Given the description of an element on the screen output the (x, y) to click on. 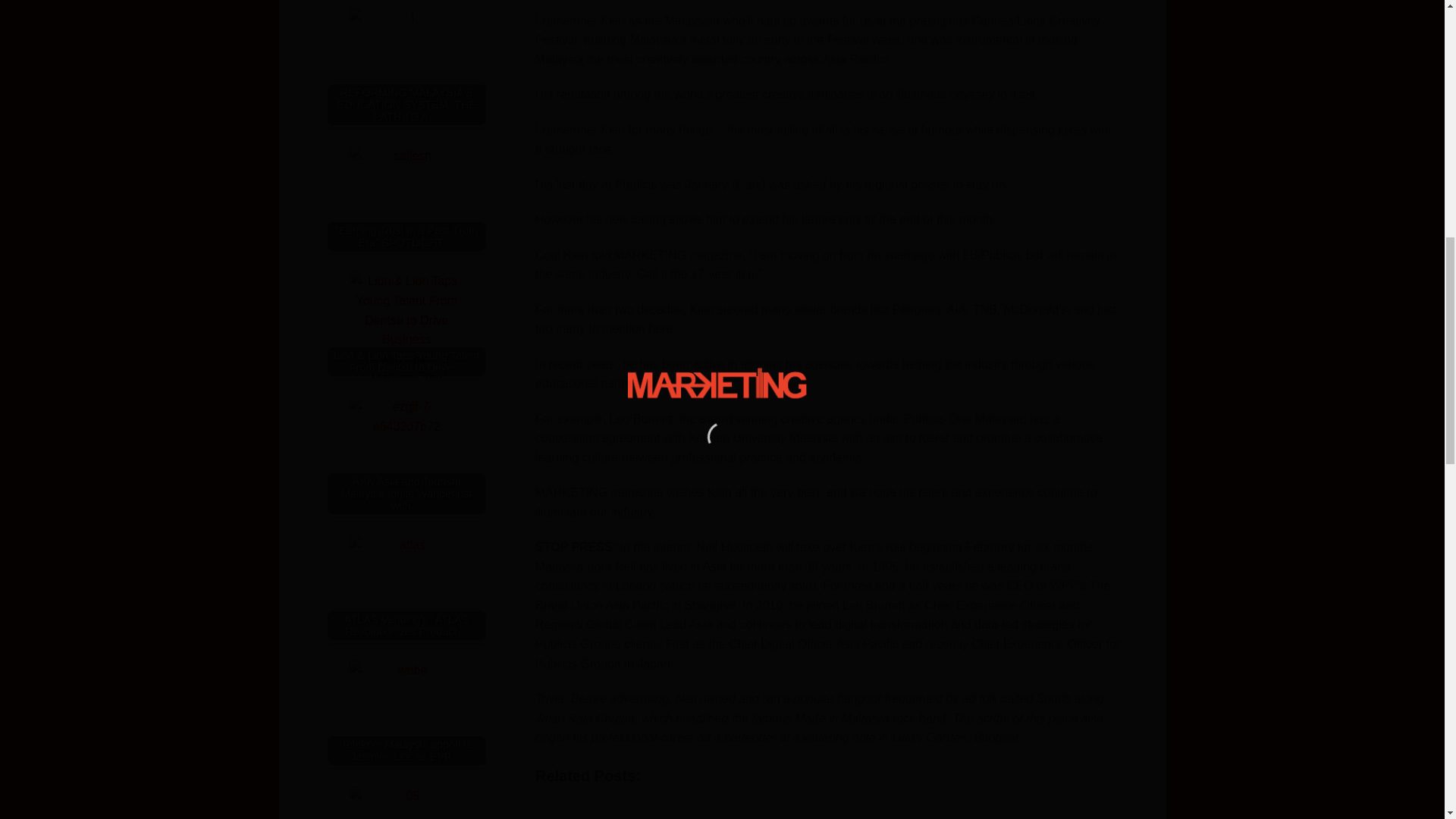
Publicis Groupe Malaysia Bags 100PLUS Creative and Social (612, 805)
